Given the description of an element on the screen output the (x, y) to click on. 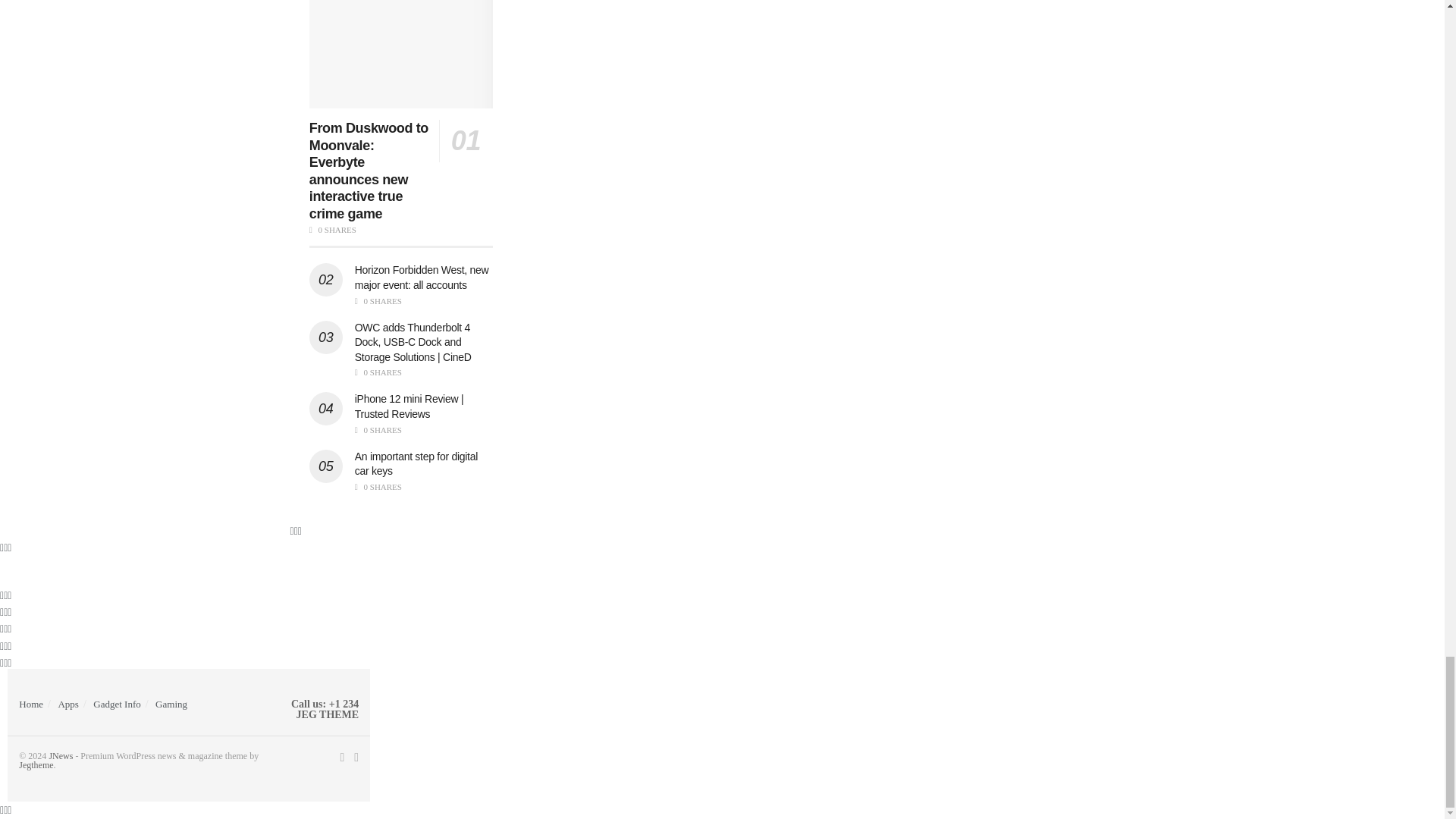
Jegtheme (35, 765)
